Given the description of an element on the screen output the (x, y) to click on. 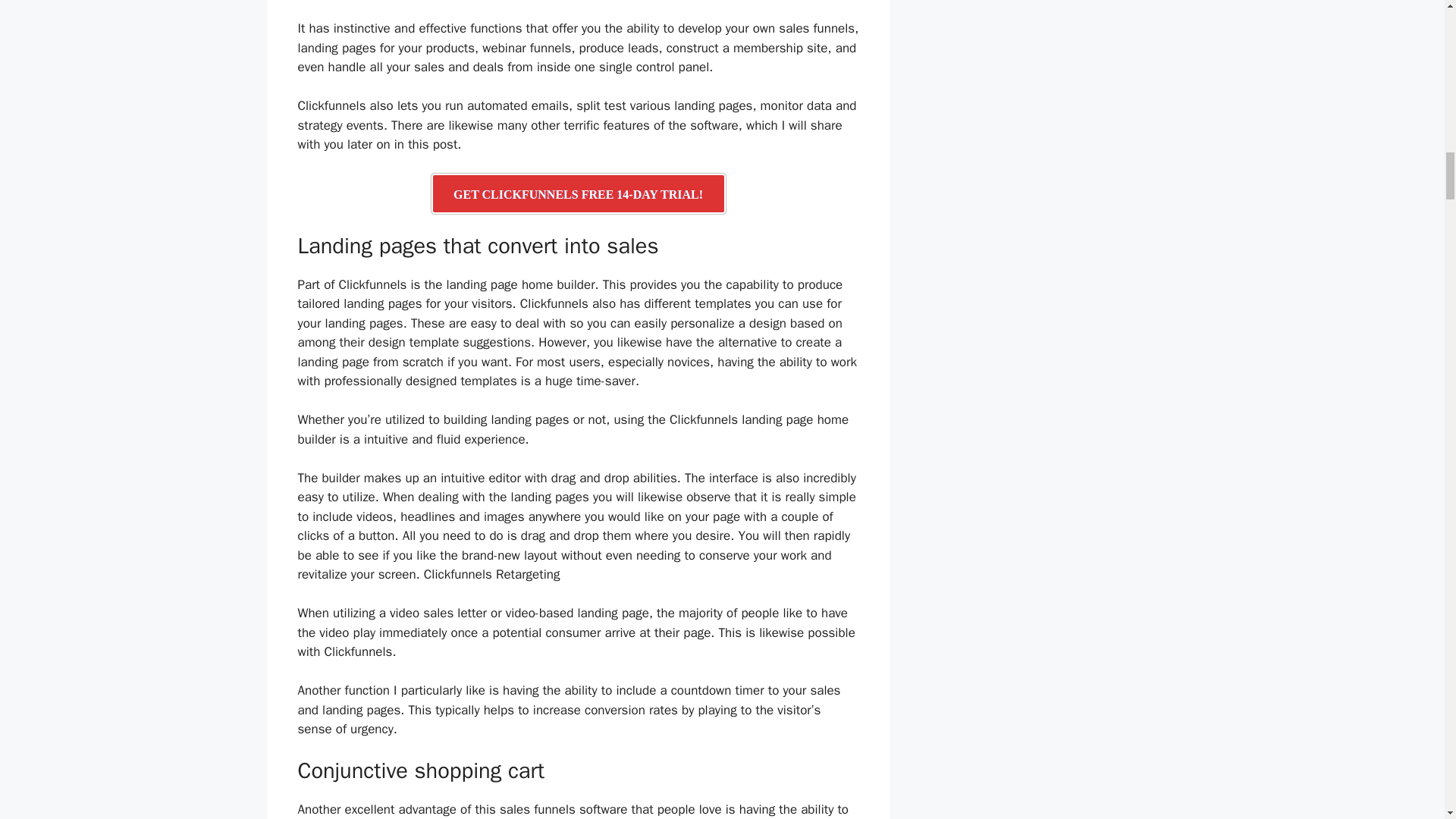
GET CLICKFUNNELS FREE 14-DAY TRIAL! (577, 193)
